Given the description of an element on the screen output the (x, y) to click on. 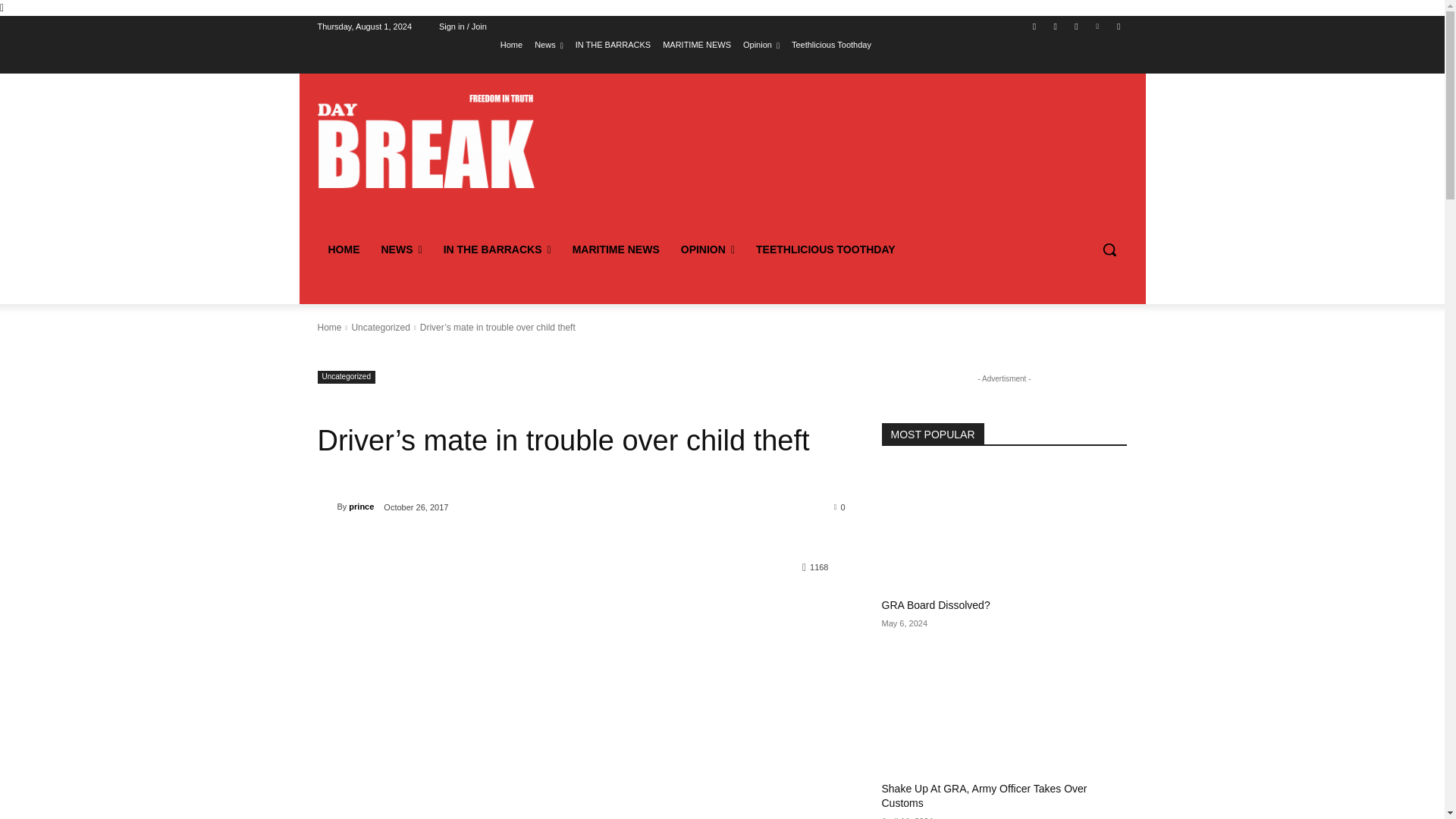
IN THE BARRACKS (612, 44)
Youtube (1117, 27)
Facebook (1034, 27)
Vimeo (1097, 27)
Opinion (760, 44)
Twitter (1075, 27)
Home (511, 44)
Teethlicious Toothday (831, 44)
MARITIME NEWS (696, 44)
Instagram (1055, 27)
IN THE BARRACKS (497, 248)
HOME (343, 248)
NEWS (400, 248)
News (548, 44)
